Given the description of an element on the screen output the (x, y) to click on. 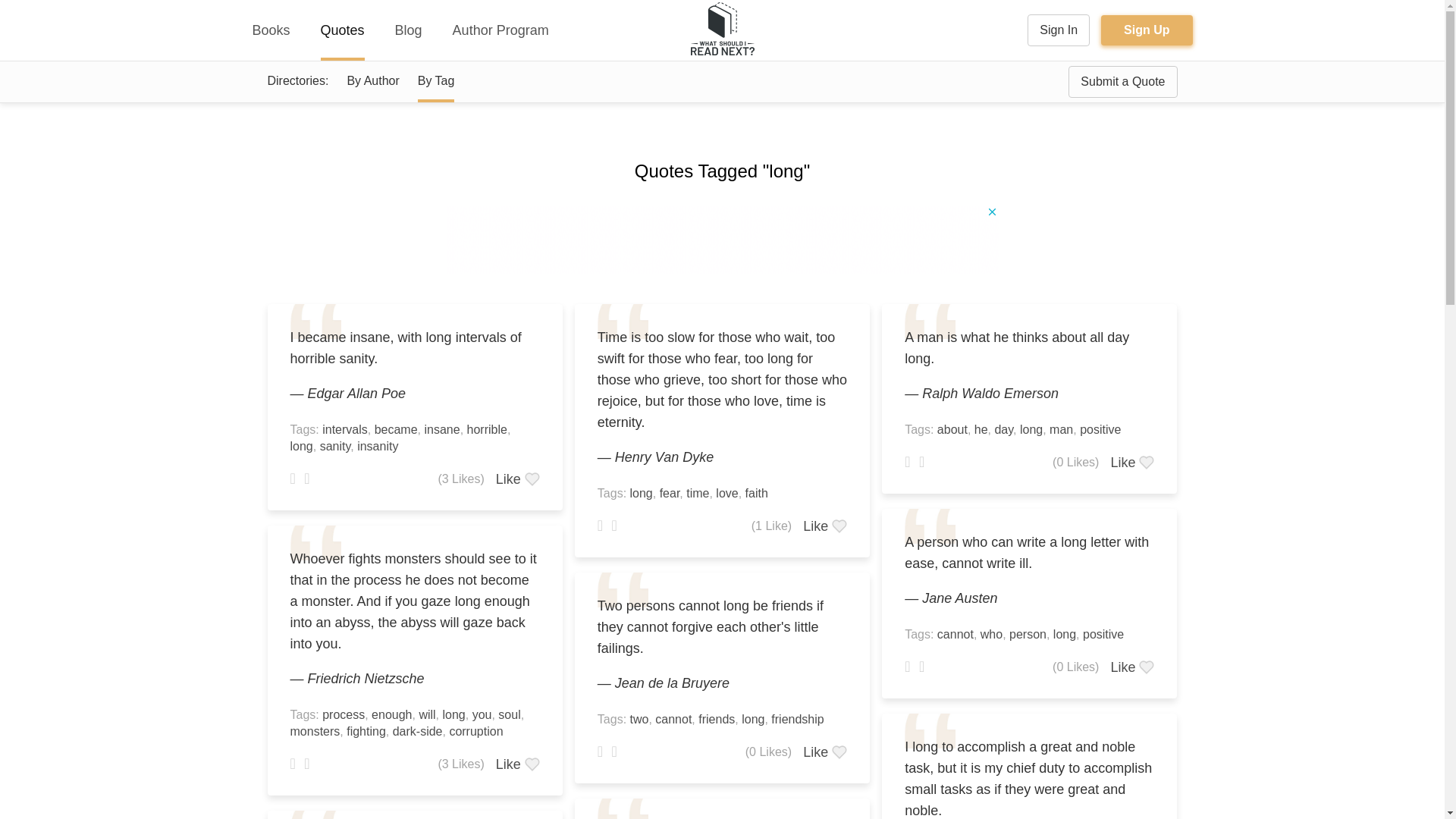
fighting (365, 730)
insanity (376, 445)
intervals (344, 429)
became (395, 429)
process (343, 714)
enough (391, 714)
Edgar Allan Poe (356, 393)
insane (441, 429)
I became insane, with long intervals of horrible sanity. (413, 347)
horrible (486, 429)
Author Program (500, 30)
Sign In (1058, 29)
long (301, 445)
corruption (475, 730)
